Given the description of an element on the screen output the (x, y) to click on. 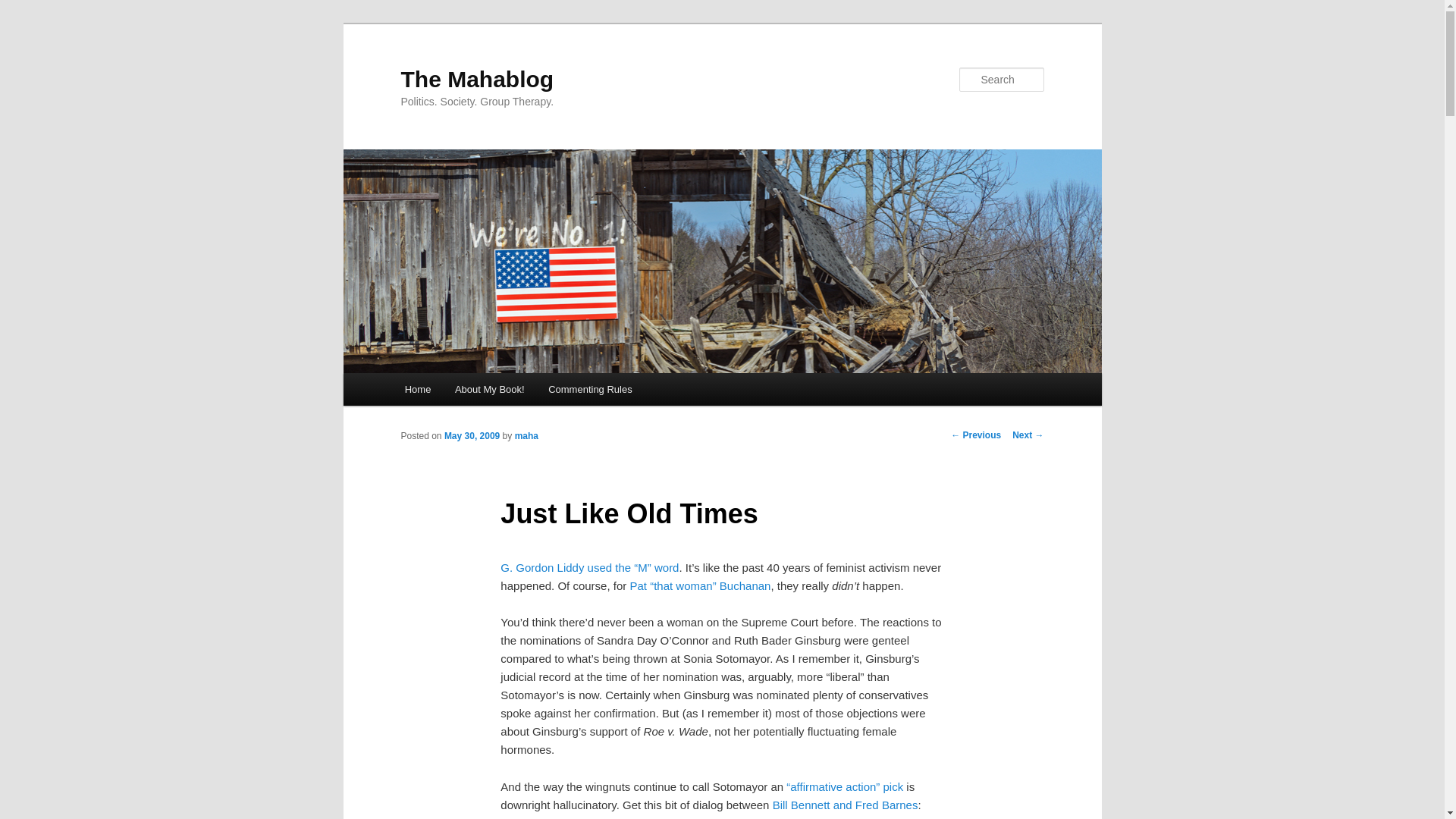
About My Book! (488, 389)
May 30, 2009 (471, 435)
Search (24, 8)
Bill Bennett and Fred Barnes (845, 804)
Home (417, 389)
View all posts by maha (526, 435)
7:42 am (471, 435)
maha (526, 435)
Commenting Rules (589, 389)
